Given the description of an element on the screen output the (x, y) to click on. 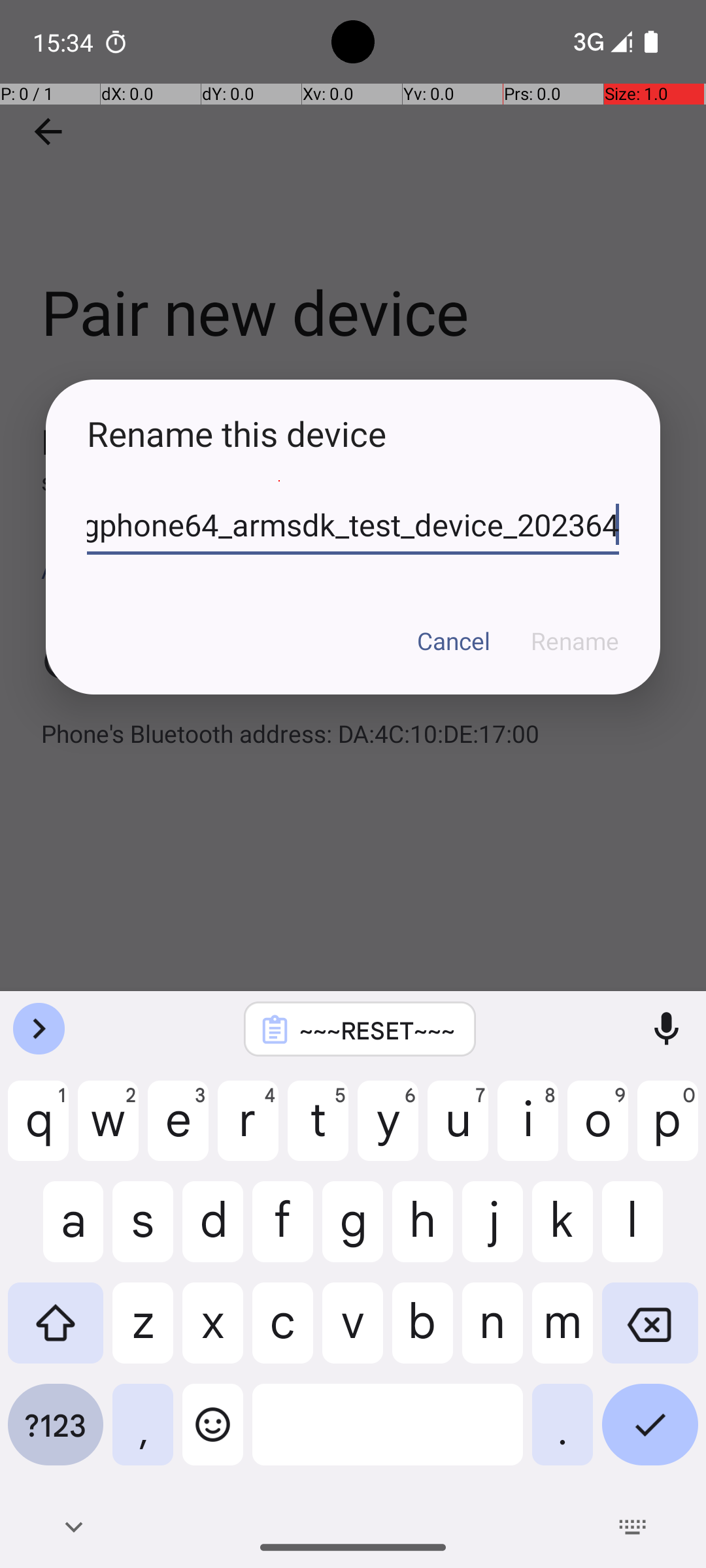
Rename this device Element type: android.widget.TextView (352, 433)
sdk_gphone64_armsdk_test_device_202364 Element type: android.widget.EditText (352, 525)
